Given the description of an element on the screen output the (x, y) to click on. 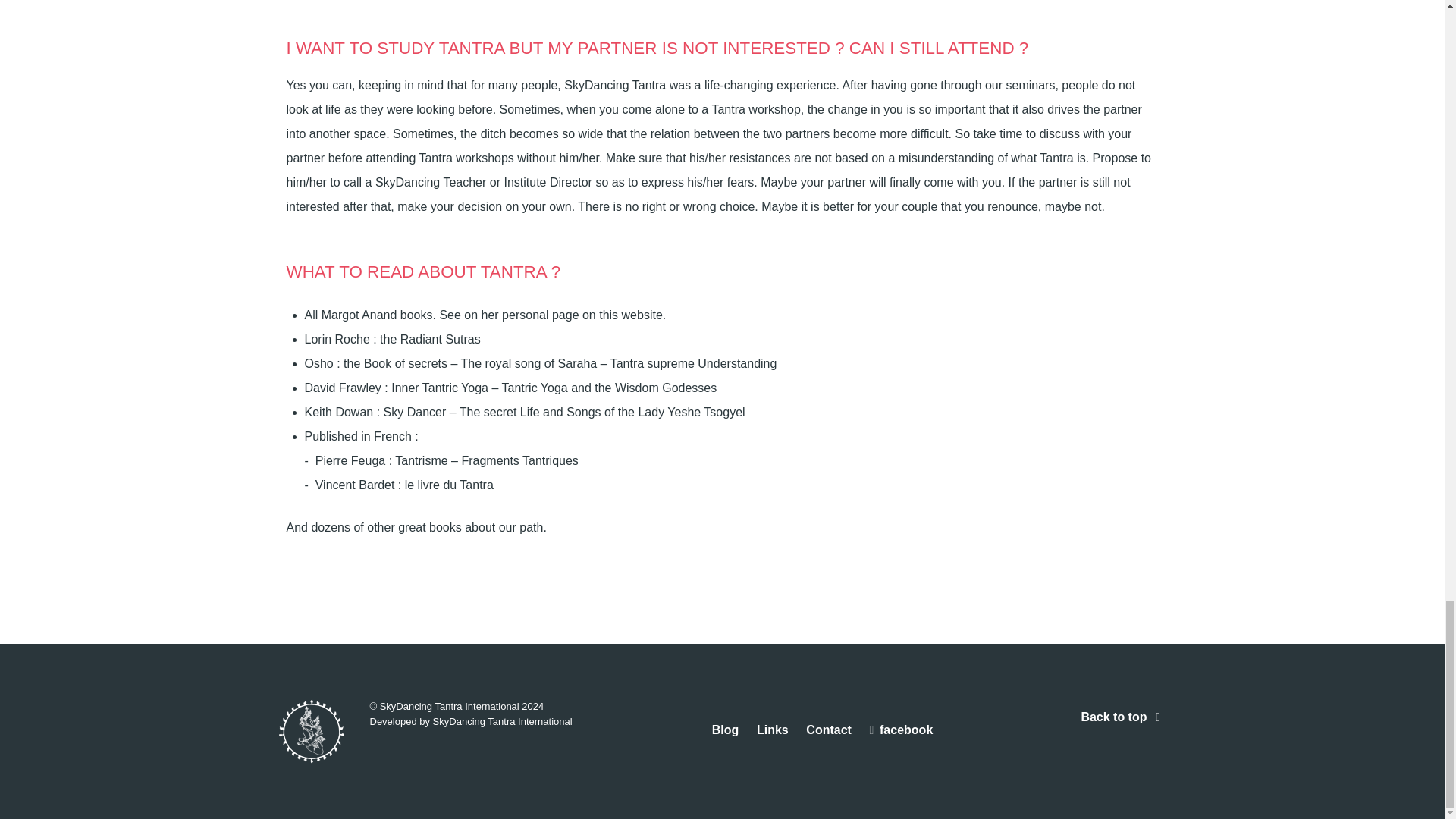
facebook (901, 730)
Back to top (1123, 716)
Blog (725, 730)
WHAT TO READ ABOUT TANTRA ? (423, 271)
Back to top (1123, 716)
Links (773, 730)
Contact (828, 730)
